Given the description of an element on the screen output the (x, y) to click on. 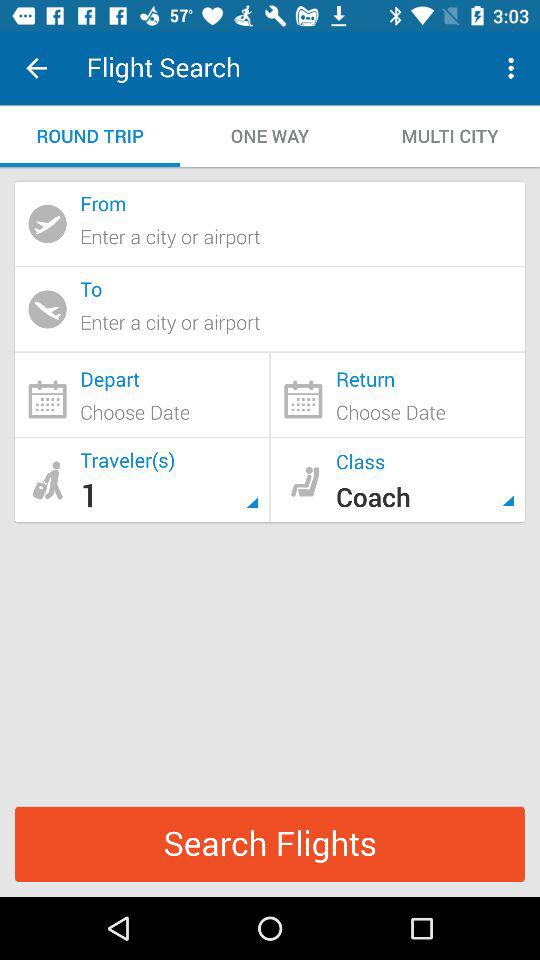
press icon to the left of multi city icon (270, 136)
